Given the description of an element on the screen output the (x, y) to click on. 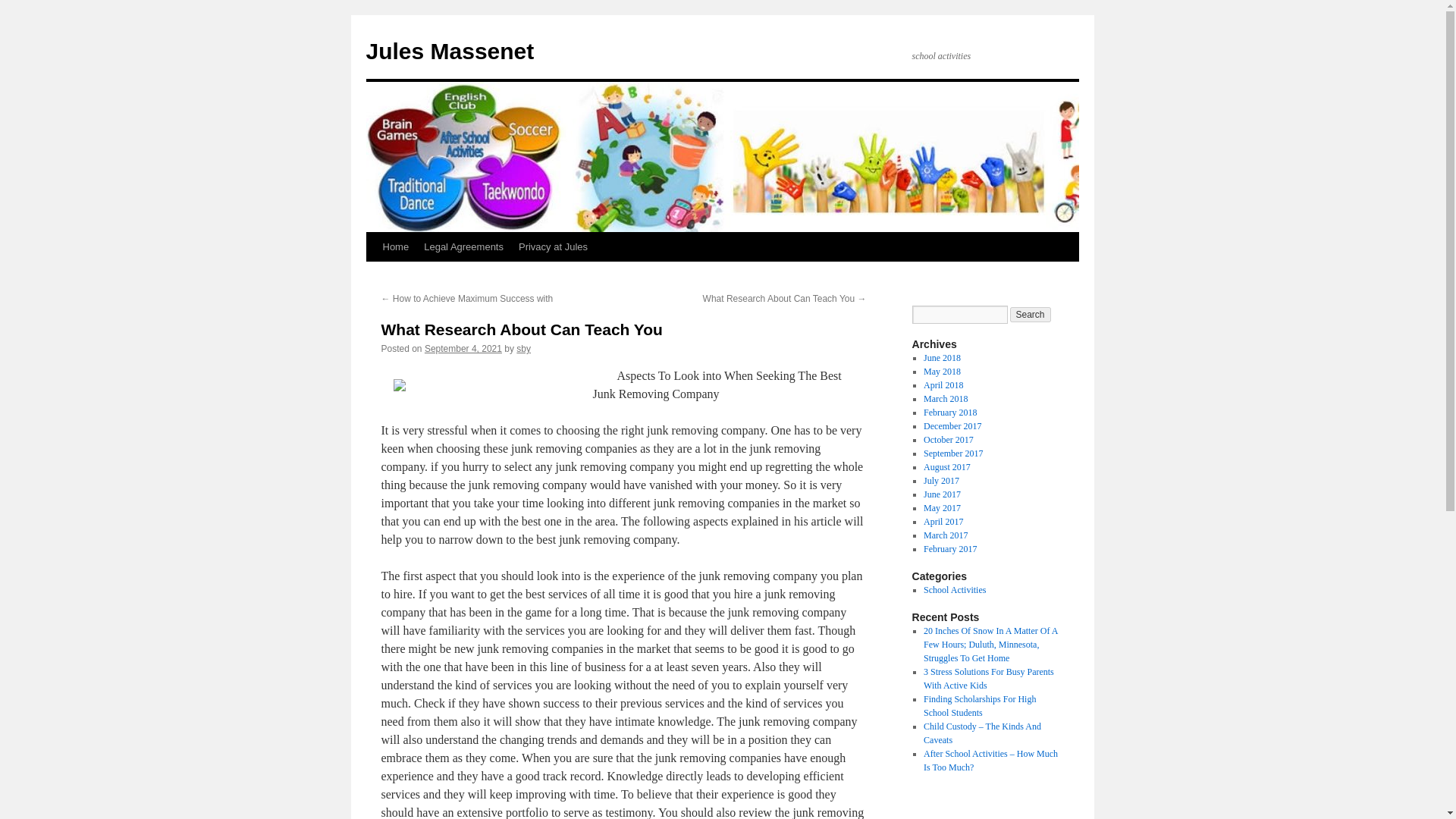
September 2017 (952, 452)
3 Stress Solutions For Busy Parents With Active Kids (988, 678)
Search (1030, 314)
June 2017 (941, 493)
October 2017 (948, 439)
February 2018 (949, 412)
Finding Scholarships For High School Students (979, 705)
April 2018 (942, 385)
Jules Massenet (449, 50)
December 2017 (952, 425)
May 2017 (941, 507)
July 2017 (941, 480)
August 2017 (947, 466)
School Activities (954, 589)
View all posts by sby (523, 348)
